Given the description of an element on the screen output the (x, y) to click on. 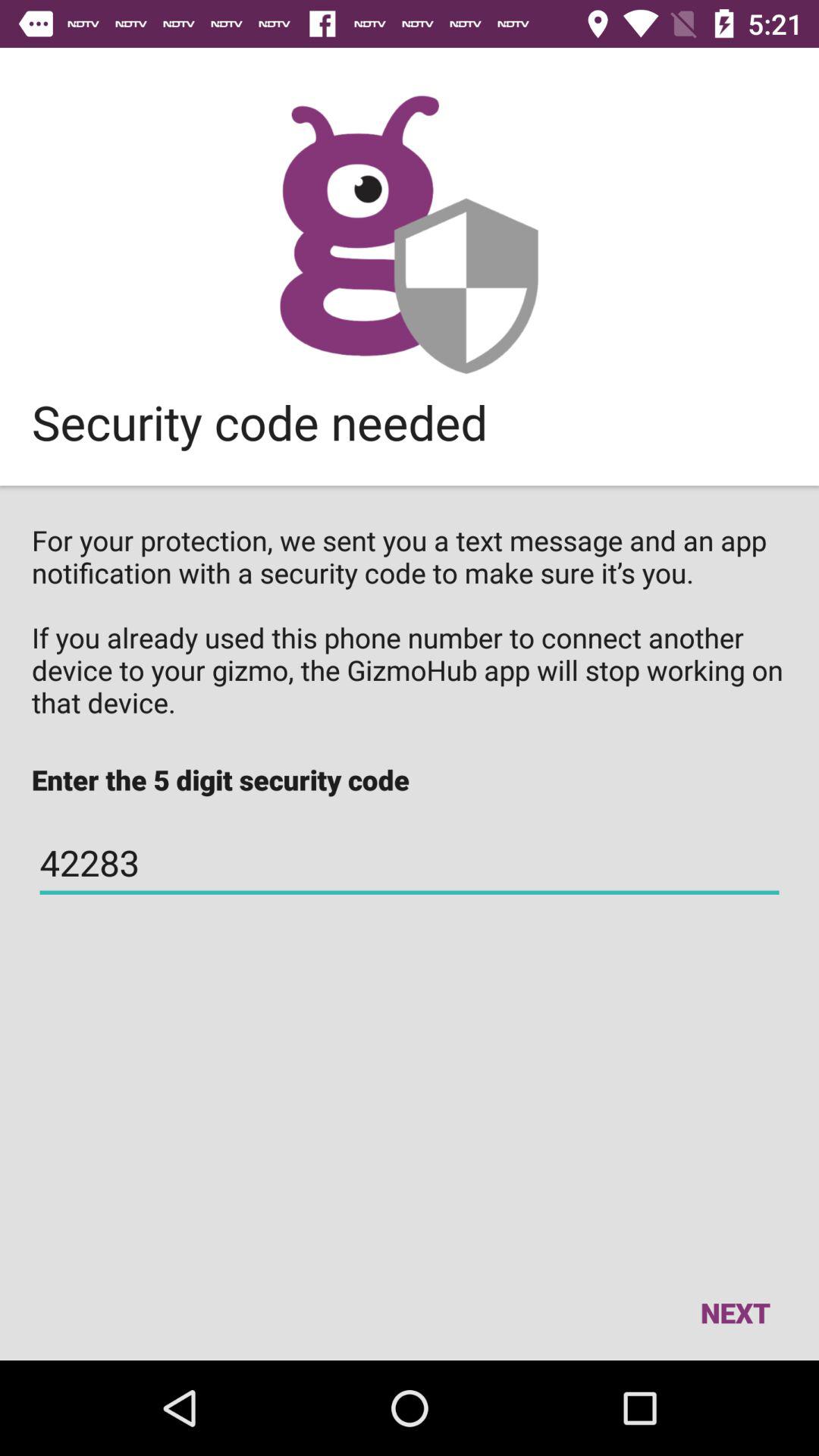
scroll until the next icon (735, 1312)
